Given the description of an element on the screen output the (x, y) to click on. 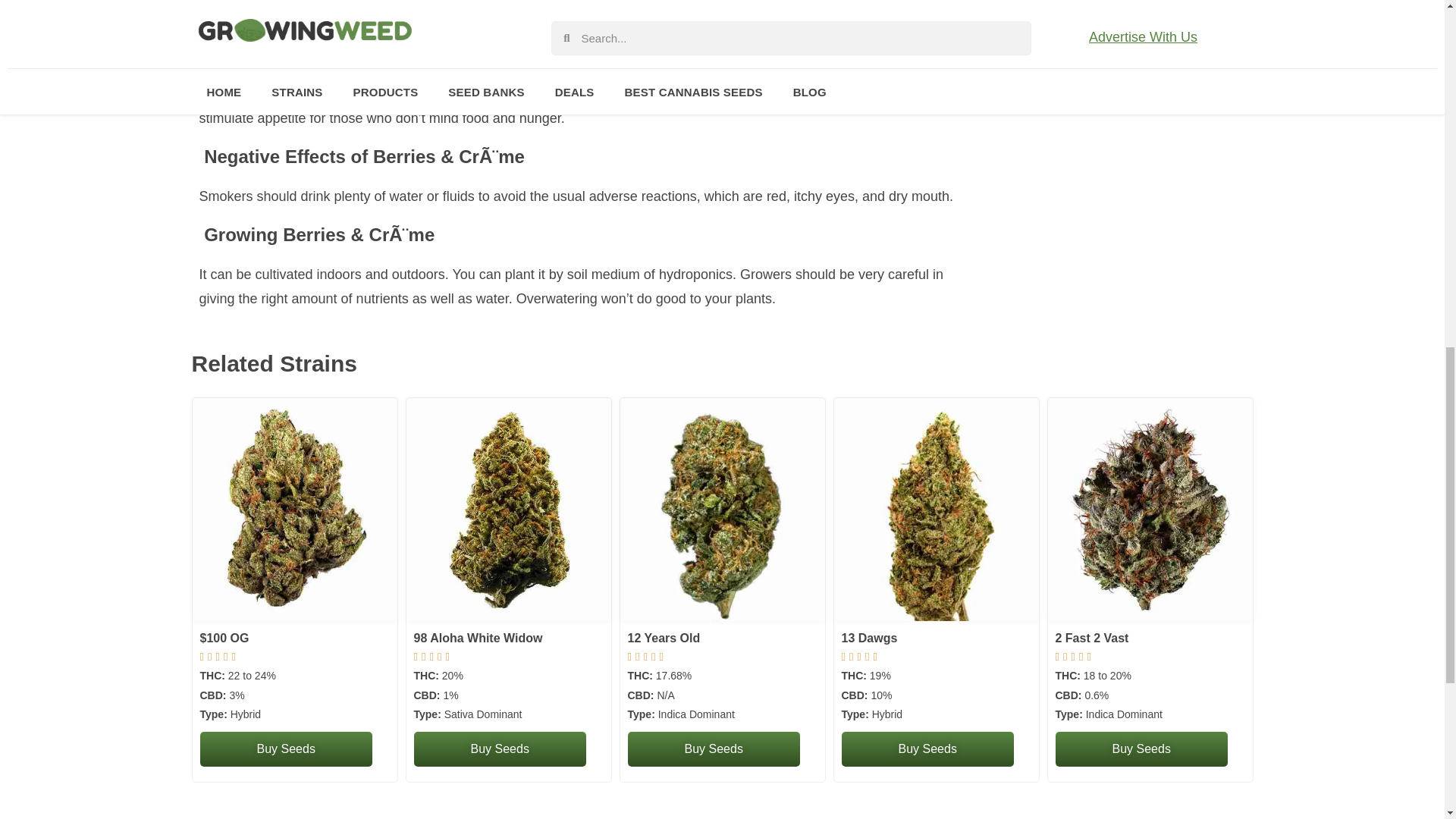
Crop King Seeds (713, 749)
Crop King Seeds (286, 749)
Crop King Seeds (927, 749)
Crop King Seeds (1141, 749)
Crop King Seeds (499, 749)
